Given the description of an element on the screen output the (x, y) to click on. 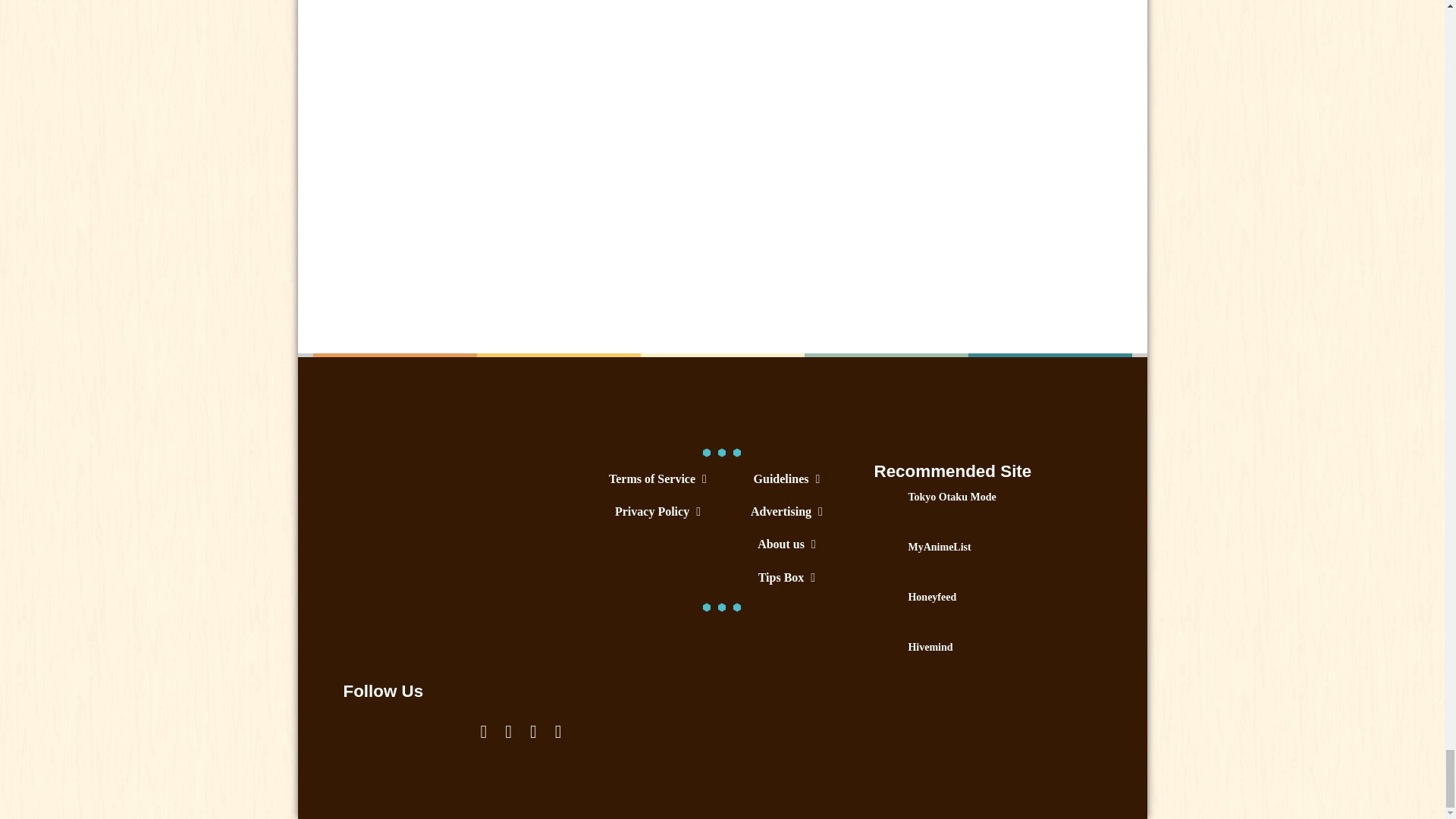
Guidelines (786, 478)
Privacy Policy (657, 511)
Terms of Service Agreement (657, 478)
